Given the description of an element on the screen output the (x, y) to click on. 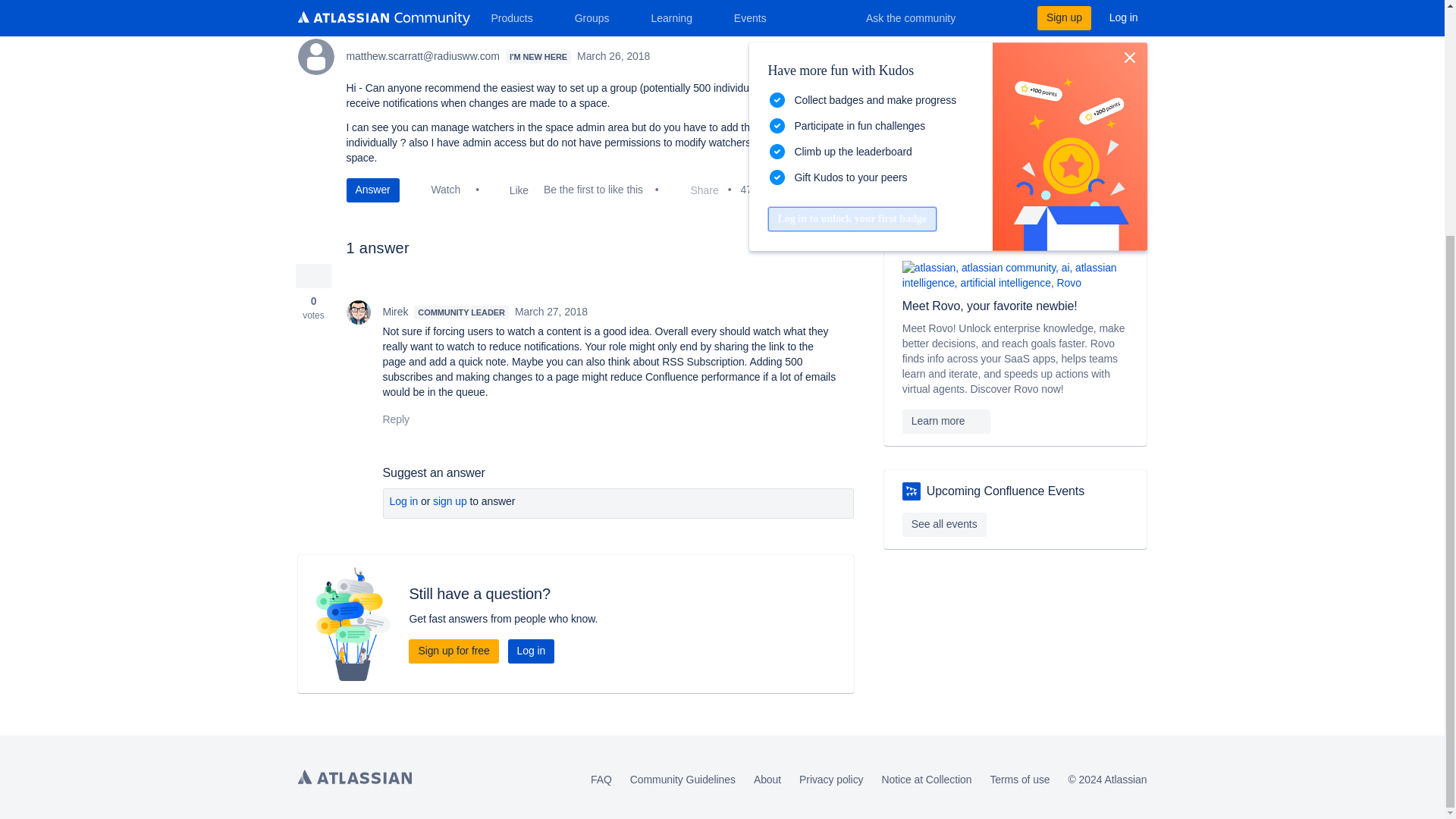
AUG Leaders (911, 491)
Confluence (895, 14)
Mirek (357, 312)
